Given the description of an element on the screen output the (x, y) to click on. 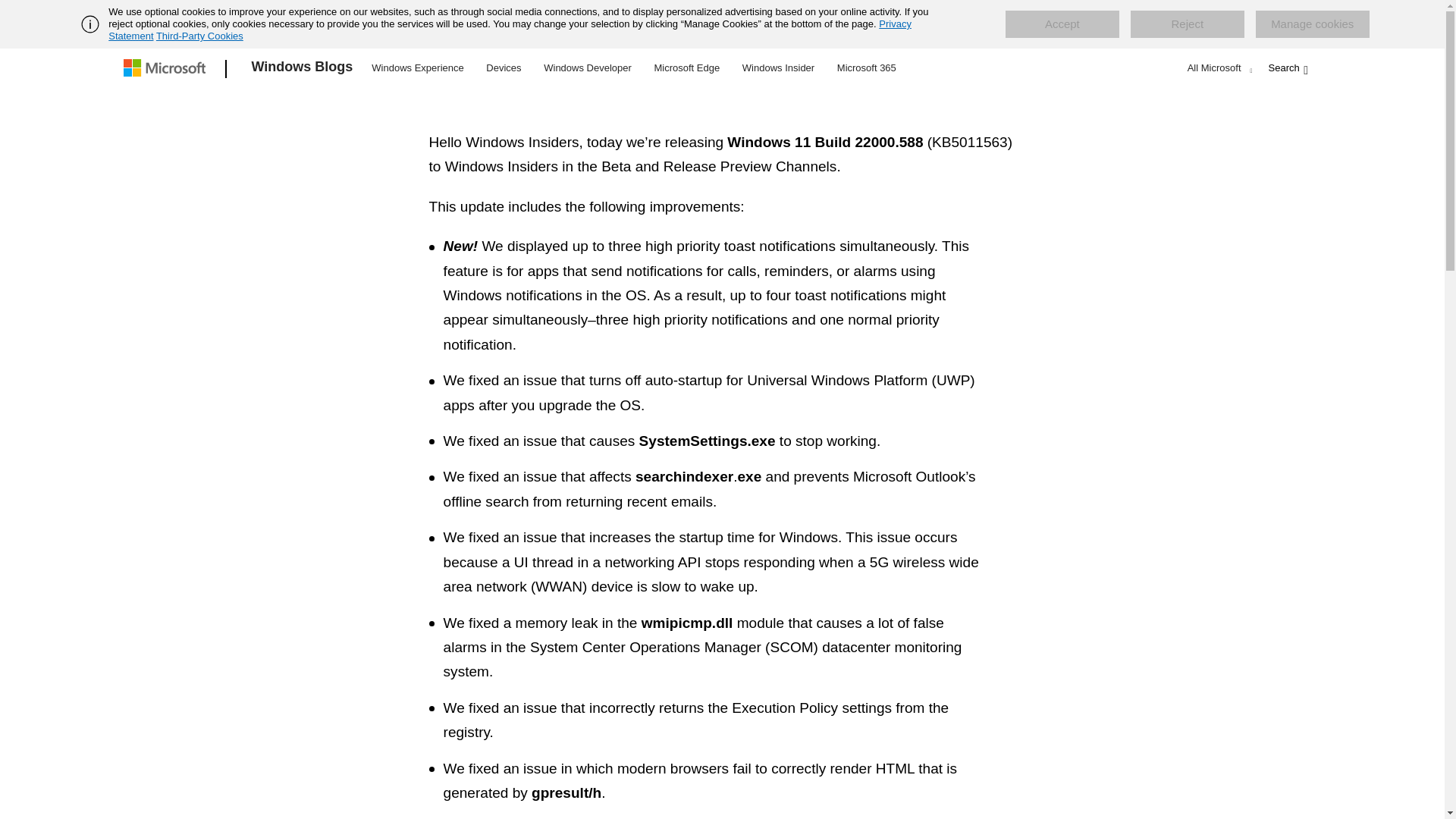
Accept (1062, 23)
Windows Experience (417, 67)
Manage cookies (1312, 23)
Microsoft (167, 69)
Windows Insider (778, 67)
Privacy Statement (509, 29)
Third-Party Cookies (199, 35)
Microsoft Edge (686, 67)
Reject (1187, 23)
Microsoft 365 (865, 67)
Windows Blogs (302, 69)
Windows Developer (588, 67)
Devices (503, 67)
All Microsoft (1217, 67)
